Given the description of an element on the screen output the (x, y) to click on. 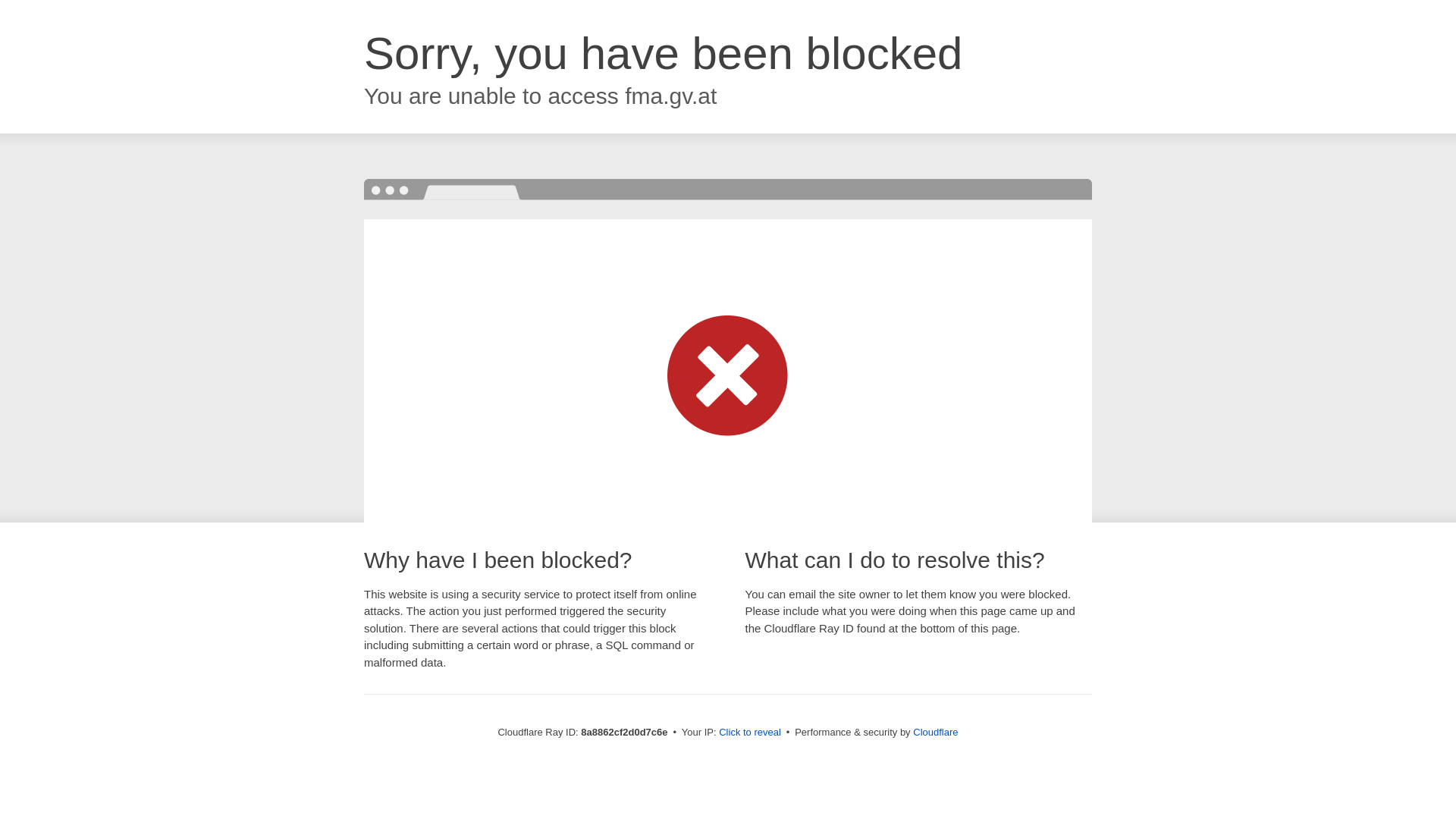
Click to reveal (749, 732)
Cloudflare (935, 731)
